Given the description of an element on the screen output the (x, y) to click on. 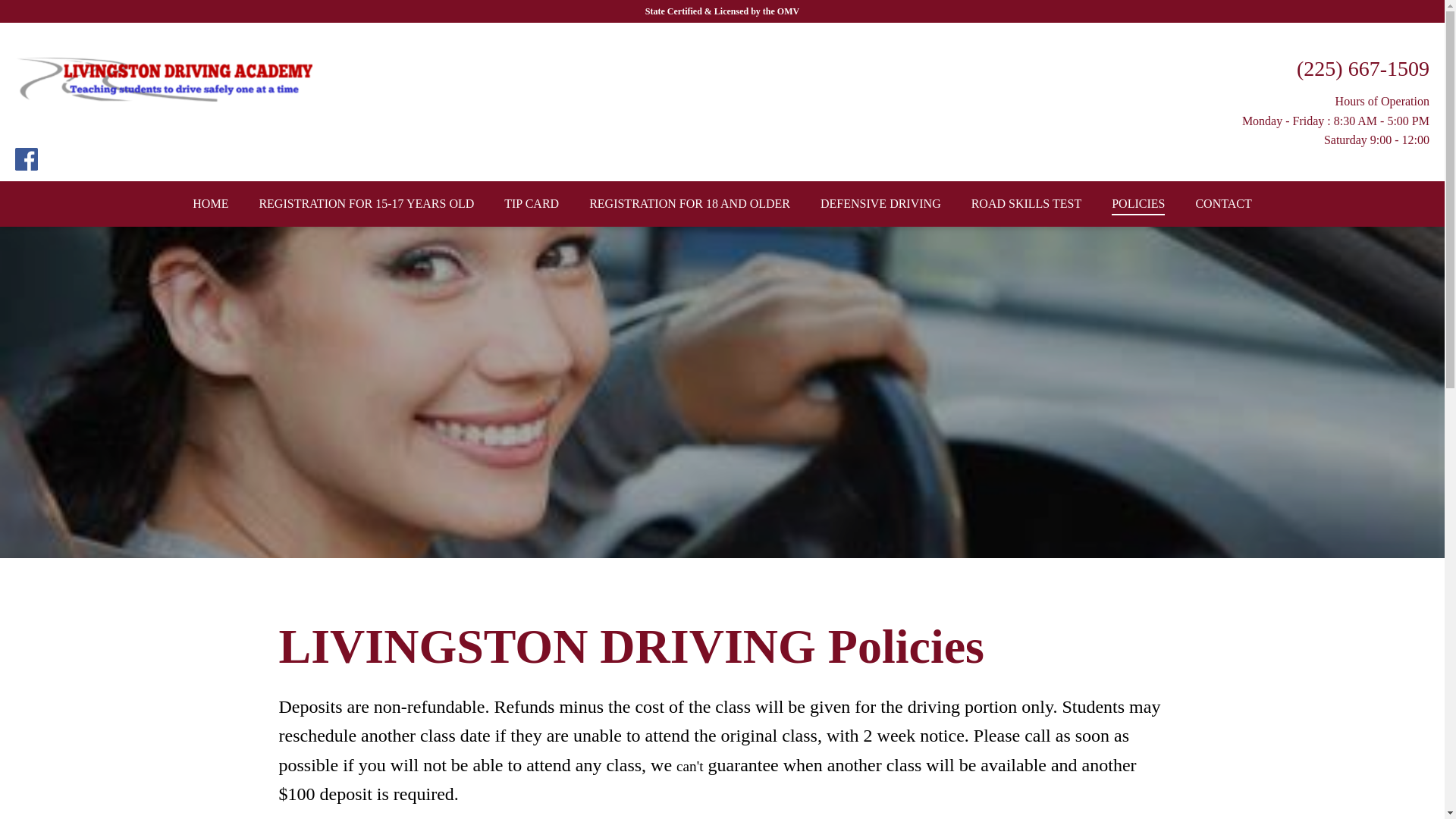
HOME (210, 203)
TIP CARD (531, 203)
DEFENSIVE DRIVING (880, 203)
POLICIES (1137, 203)
REGISTRATION FOR 18 AND OLDER (689, 203)
REGISTRATION FOR 15-17 YEARS OLD (366, 203)
ROAD SKILLS TEST (1026, 203)
Facebook (28, 167)
CONTACT (1222, 203)
